Given the description of an element on the screen output the (x, y) to click on. 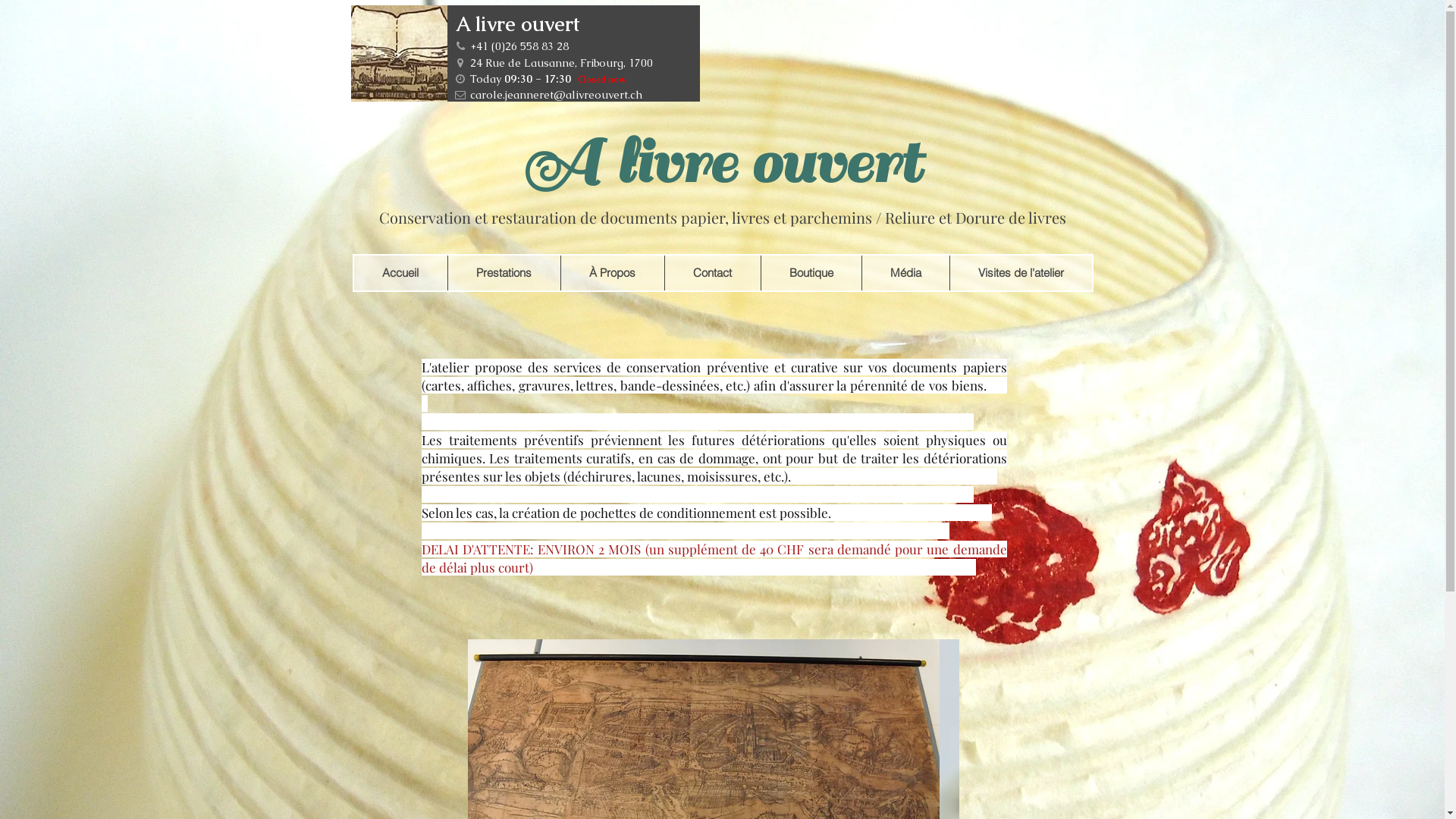
Boutique Element type: text (809, 272)
Visites de l'atelier Element type: text (1020, 272)
Contact Element type: text (712, 272)
Online Business Card Element type: hover (524, 53)
Accueil Element type: text (399, 272)
